Given the description of an element on the screen output the (x, y) to click on. 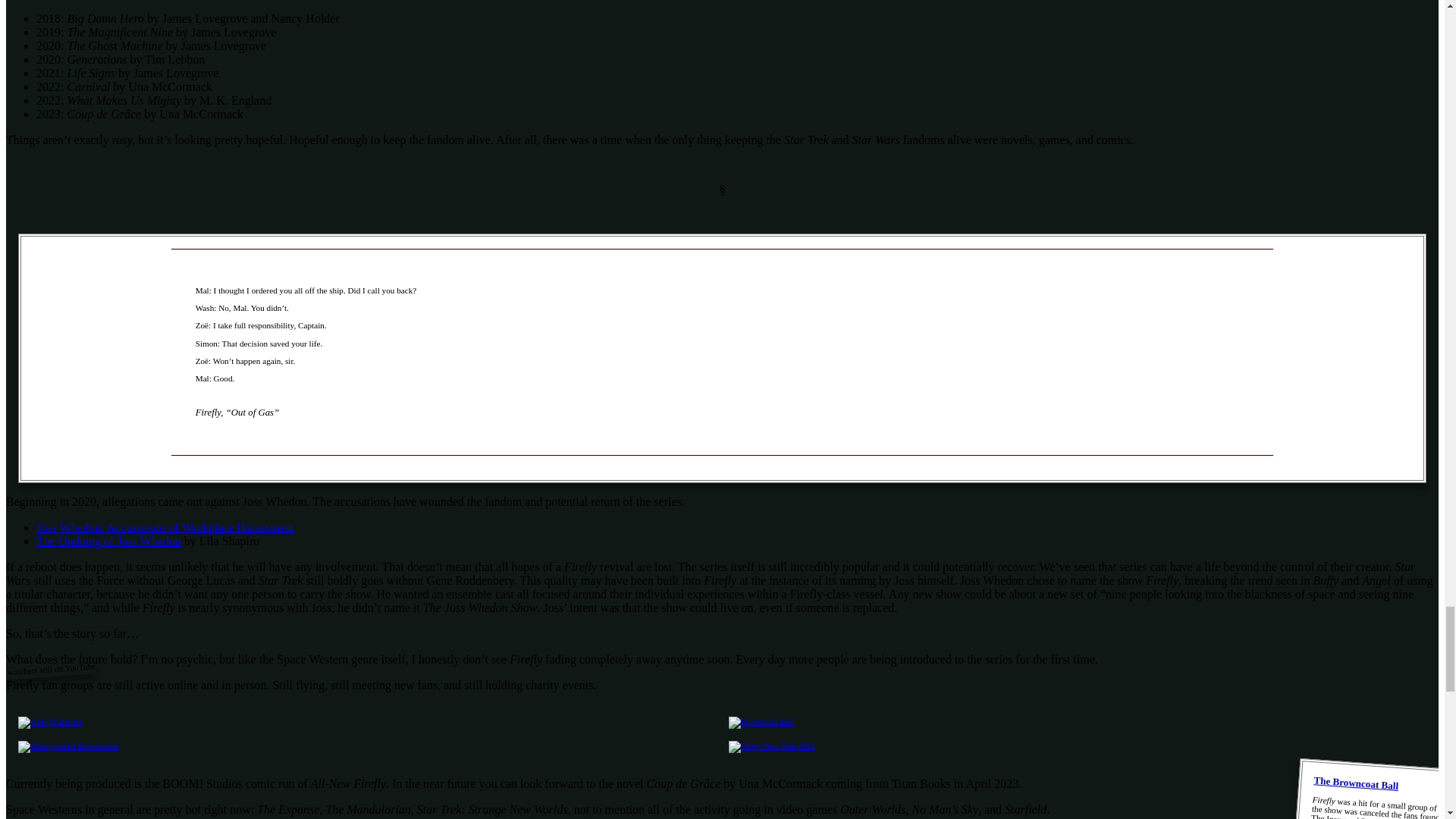
The Undoing of Joss Whedon (108, 540)
Joss Whedon: Accusations of Workplace Harassment (165, 526)
The Browncoat Ball (1355, 780)
